Given the description of an element on the screen output the (x, y) to click on. 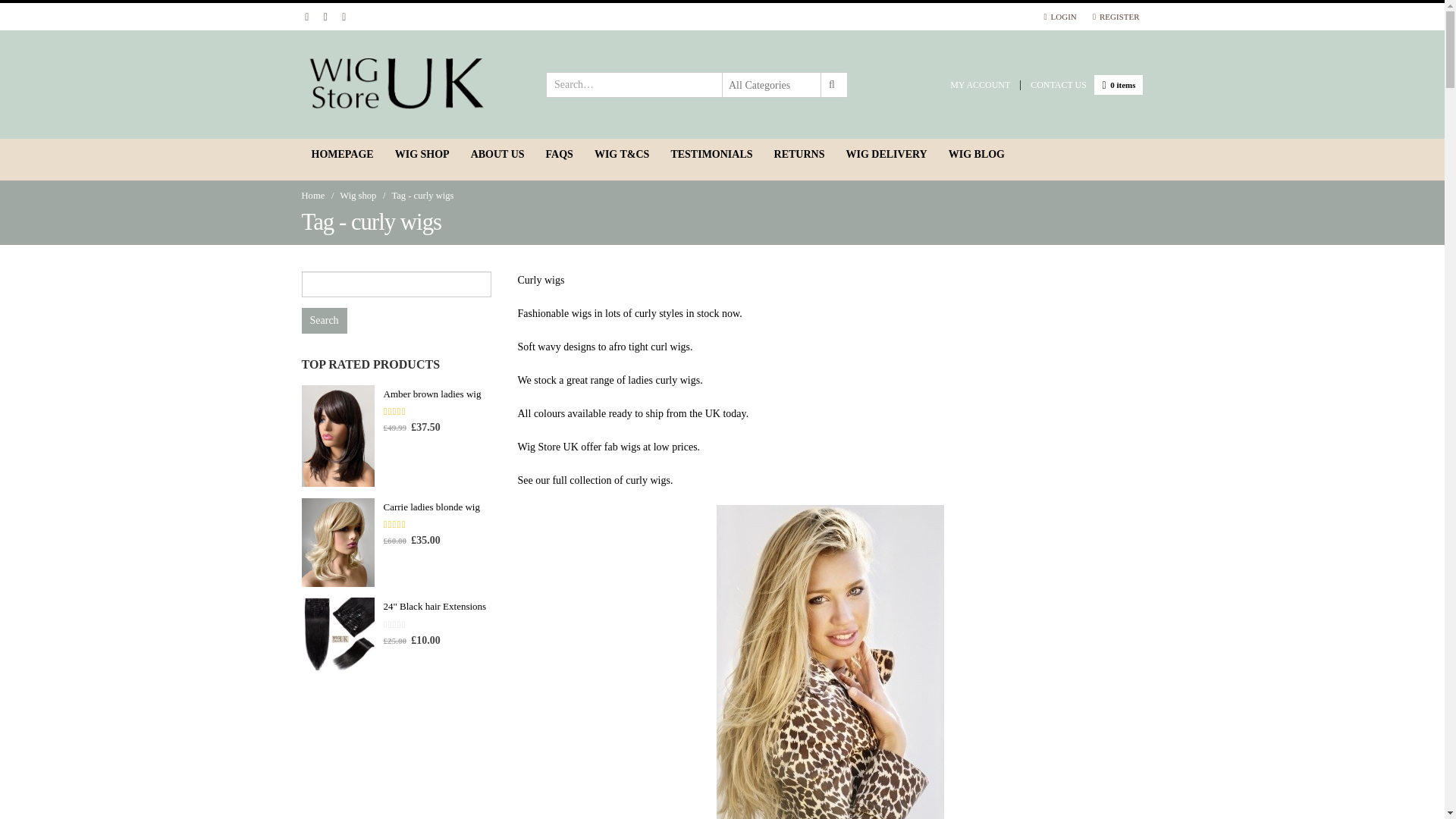
HOMEPAGE (342, 153)
WIG DELIVERY (885, 153)
Wig shop (357, 195)
MY ACCOUNT (980, 84)
RETURNS (799, 153)
Facebook (306, 16)
TESTIMONIALS (711, 153)
Search (832, 84)
Wig Store UK - Wigs online UK, best wig UK wigs for sale (396, 84)
ABOUT US (497, 153)
LOGIN (1060, 16)
Search (324, 320)
CONTACT US (1058, 84)
Twitter (324, 16)
Home (312, 195)
